Given the description of an element on the screen output the (x, y) to click on. 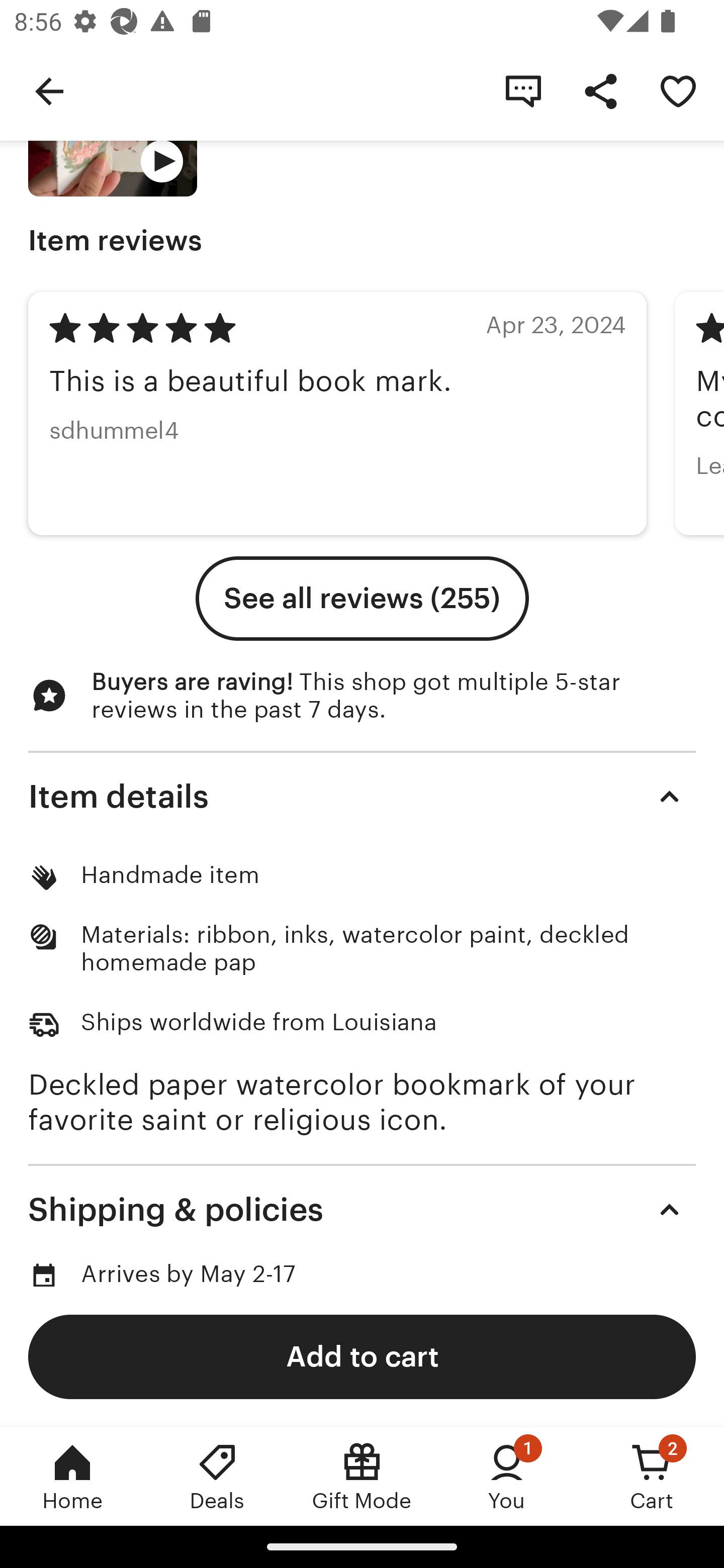
Navigate up (49, 90)
Contact shop (523, 90)
Share (600, 90)
Remove Watercolor Bookmarks from your favorites (678, 90)
See all reviews (255) (362, 598)
Item details (362, 796)
Shipping & policies (362, 1209)
Add to cart (361, 1355)
Deals (216, 1475)
Gift Mode (361, 1475)
You, 1 new notification You (506, 1475)
Cart, 2 new notifications Cart (651, 1475)
